Given the description of an element on the screen output the (x, y) to click on. 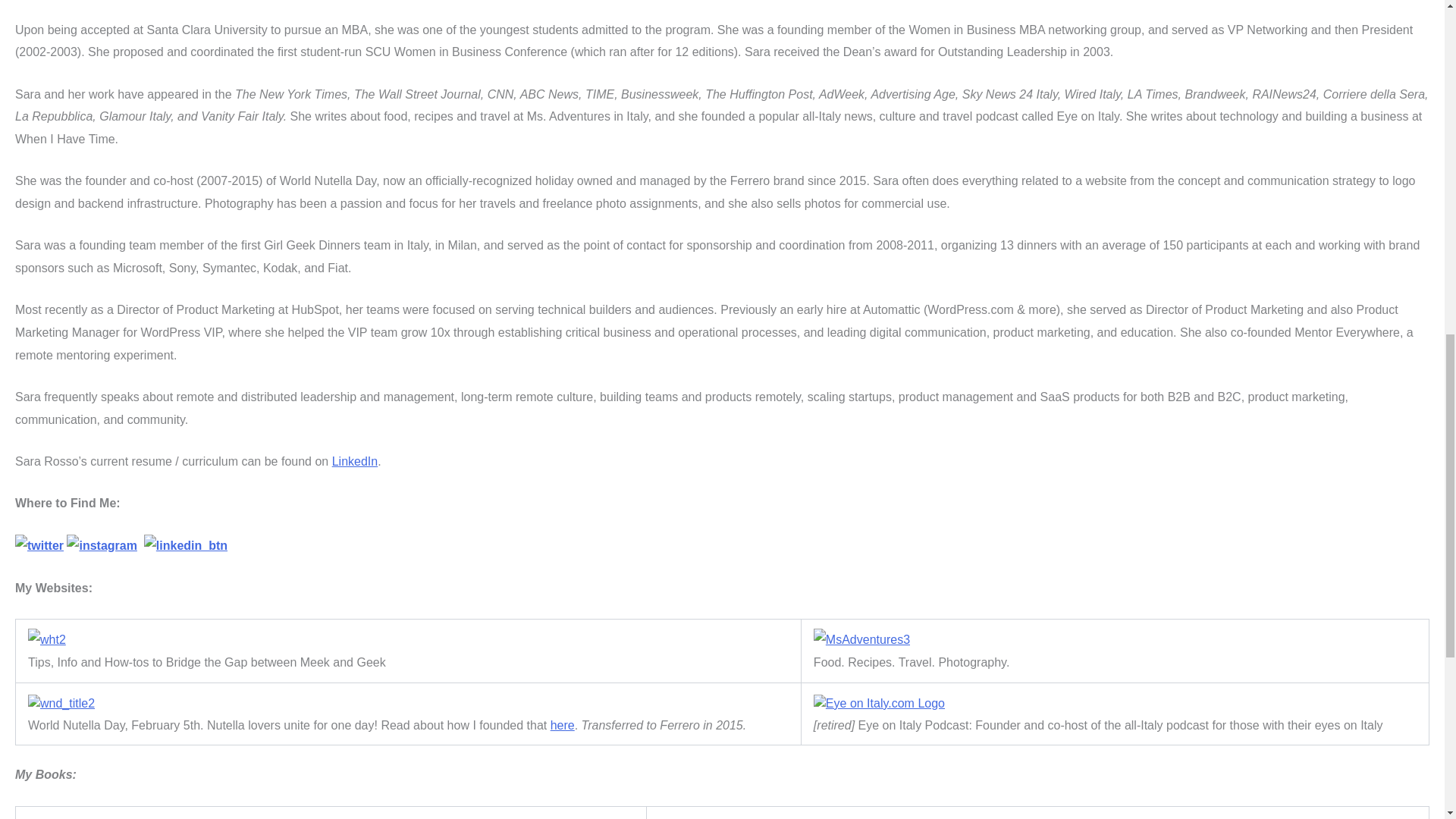
here (562, 725)
Eye on Italy.com Logo (878, 703)
twitter (39, 545)
LinkedIn (354, 461)
www.nutelladay.com (60, 703)
www.whenihavetime.com (46, 639)
MsAdventures3 (861, 639)
